Given the description of an element on the screen output the (x, y) to click on. 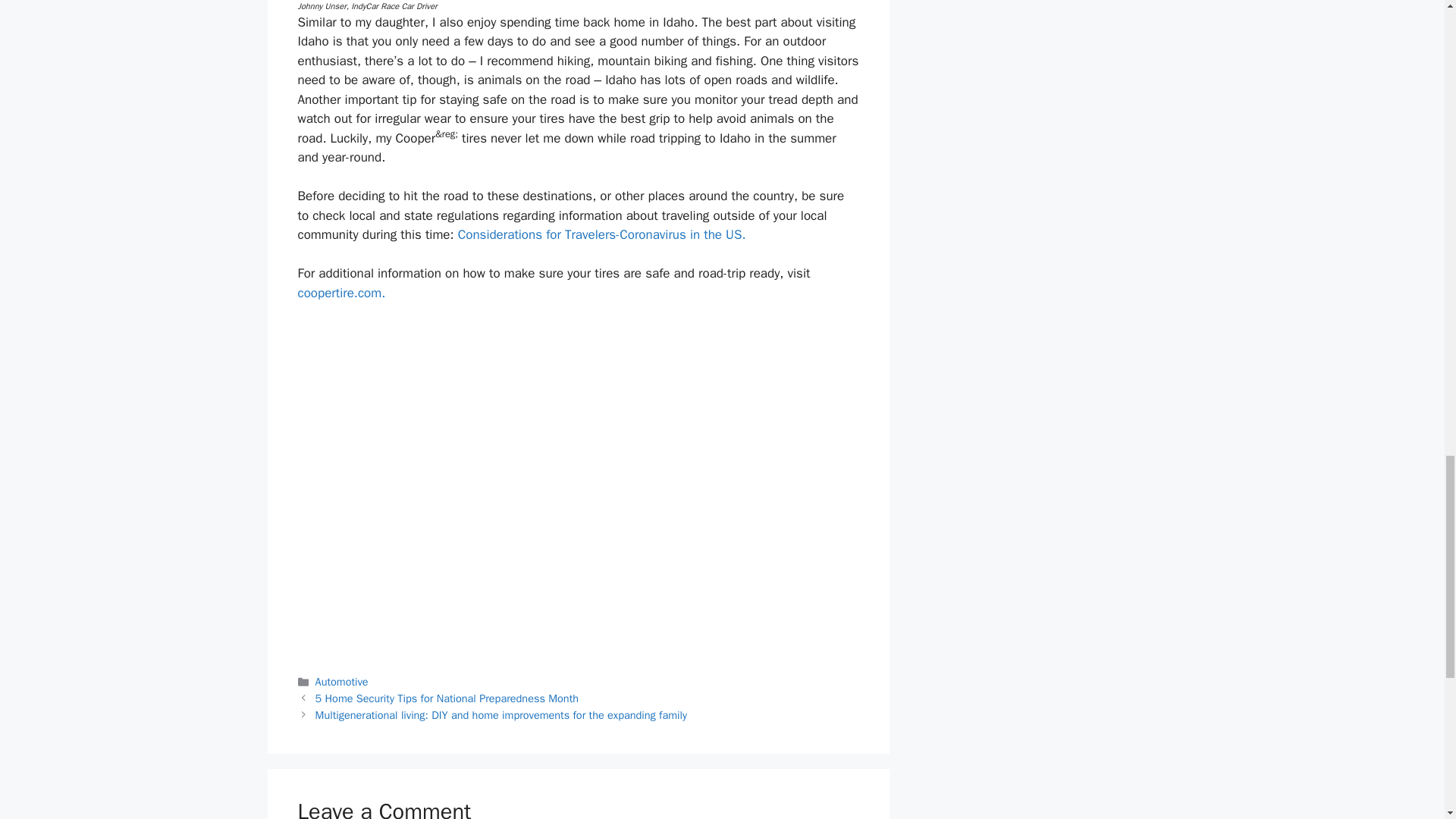
Advertisement (578, 582)
Automotive (341, 681)
5 Home Security Tips for National Preparedness Month (446, 698)
coopertire.com. (341, 293)
Considerations for Travelers-Coronavirus in the US. (601, 234)
Advertisement (578, 434)
